Given the description of an element on the screen output the (x, y) to click on. 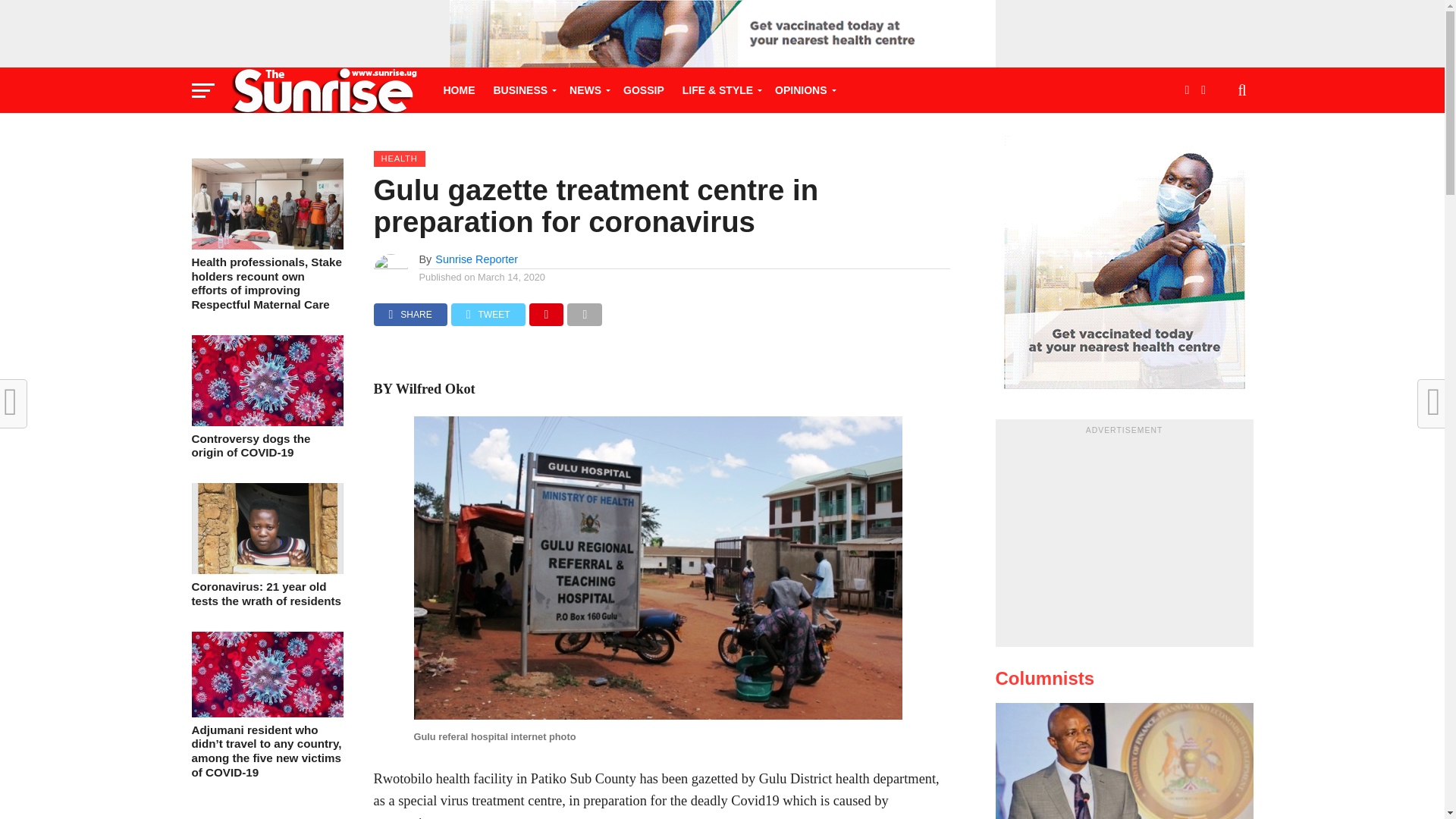
HOME (458, 90)
Coronavirus: 21 year old tests the wrath of residents (266, 569)
BUSINESS (521, 90)
NEWS (587, 90)
OPINIONS (802, 90)
Controversy dogs the origin of COVID-19 (266, 421)
GOSSIP (643, 90)
Posts by Sunrise Reporter (476, 259)
